Given the description of an element on the screen output the (x, y) to click on. 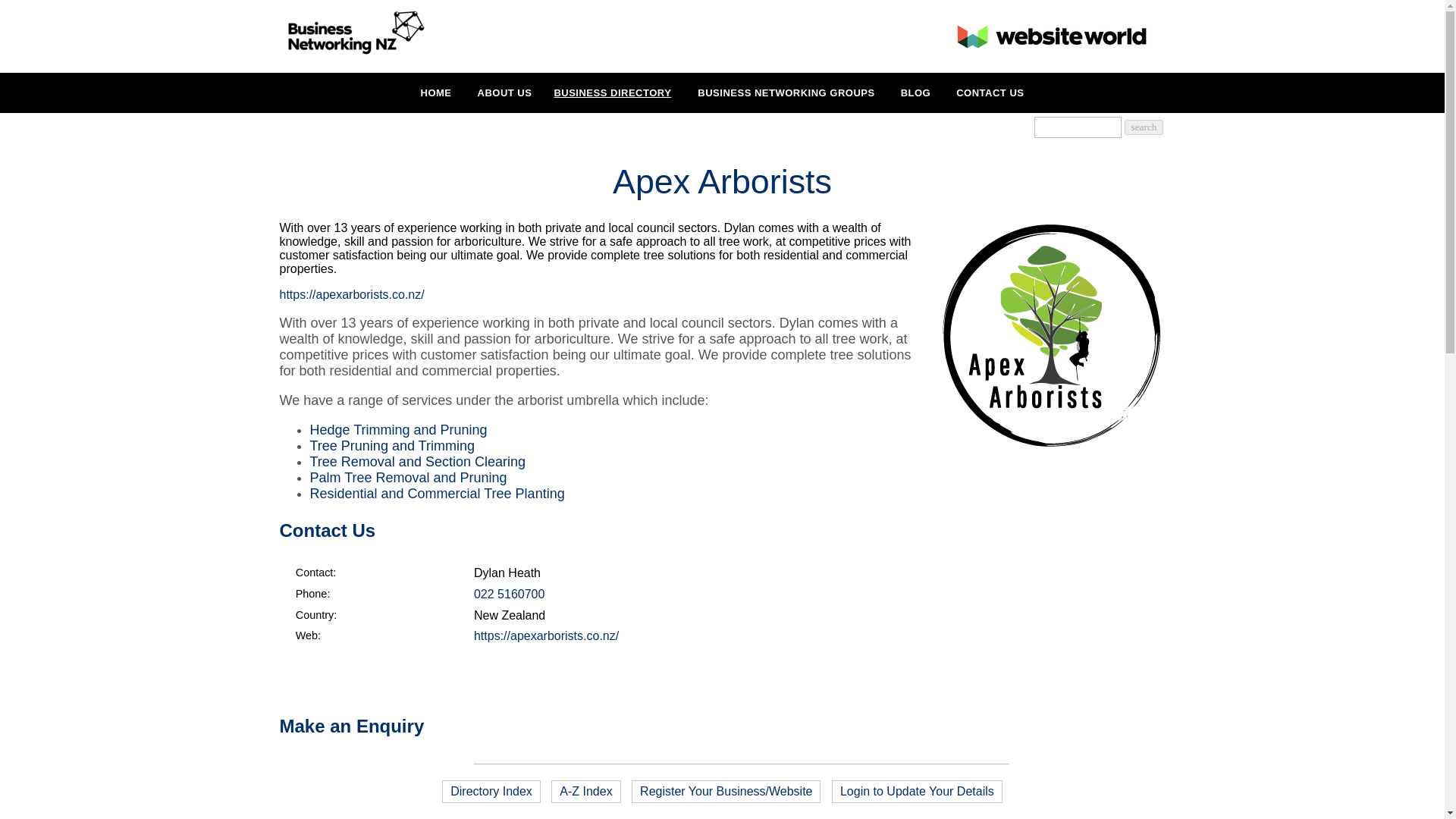
Tree Removal and Section Clearing (416, 461)
Tree Pruning and Trimming (391, 445)
Tree Removal and Section Clearing (416, 461)
CONTACT US (989, 92)
HOME (436, 92)
Residential and Commercial Tree Planting (436, 493)
Apex Arborists (1051, 445)
Tree Pruning and Trimming (391, 445)
BUSINESS DIRECTORY (611, 92)
search (1142, 126)
022 5160700 (509, 594)
Hedge Trimming and Pruning (397, 429)
BLOG (915, 92)
ABOUT US (504, 92)
BUSINESS NETWORKING GROUPS (785, 92)
